Given the description of an element on the screen output the (x, y) to click on. 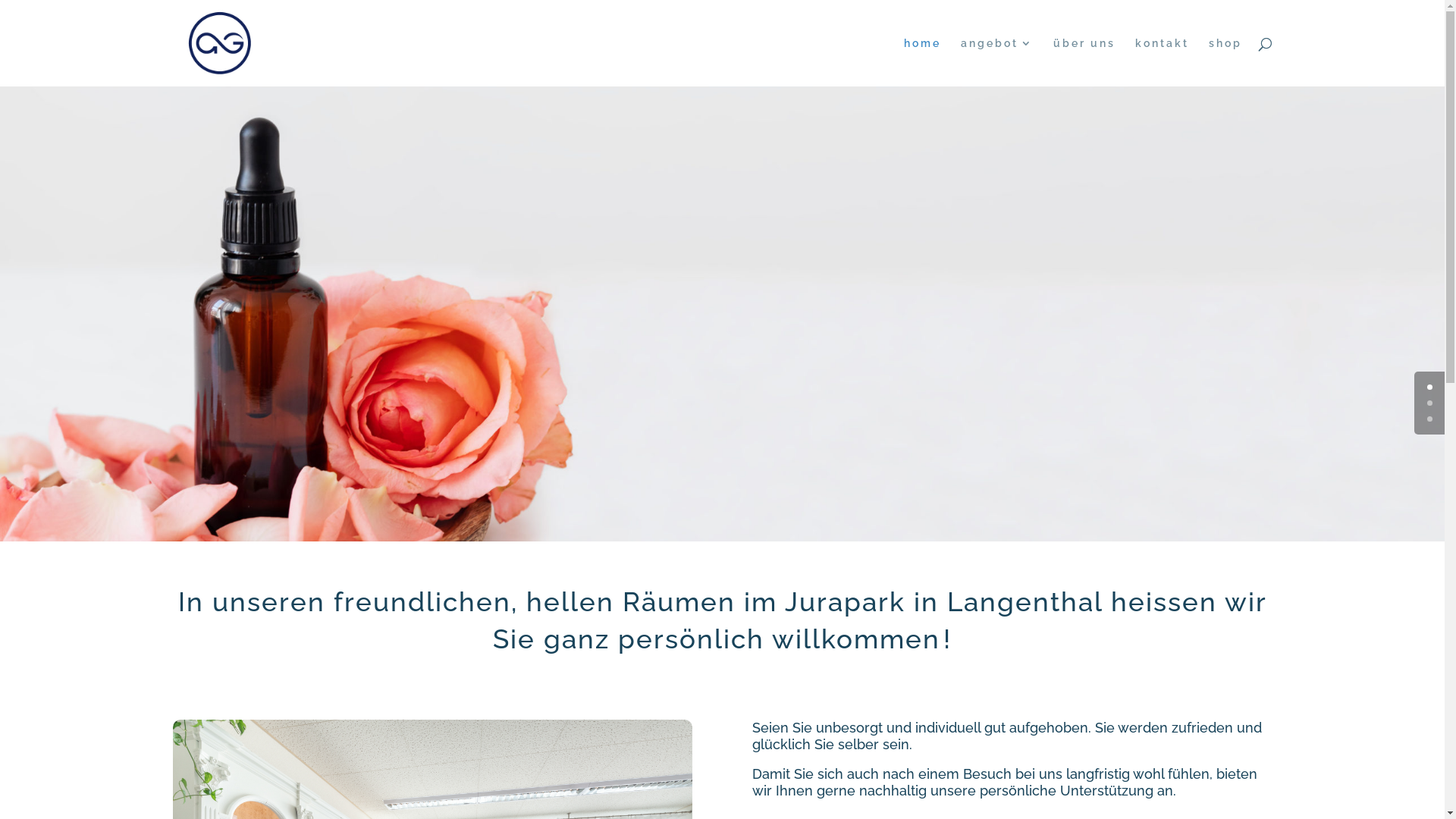
home Element type: text (922, 61)
kontakt Element type: text (1161, 61)
angebot Element type: text (996, 61)
2 Element type: text (1429, 418)
shop Element type: text (1225, 61)
0 Element type: text (1429, 386)
1 Element type: text (1429, 402)
